Given the description of an element on the screen output the (x, y) to click on. 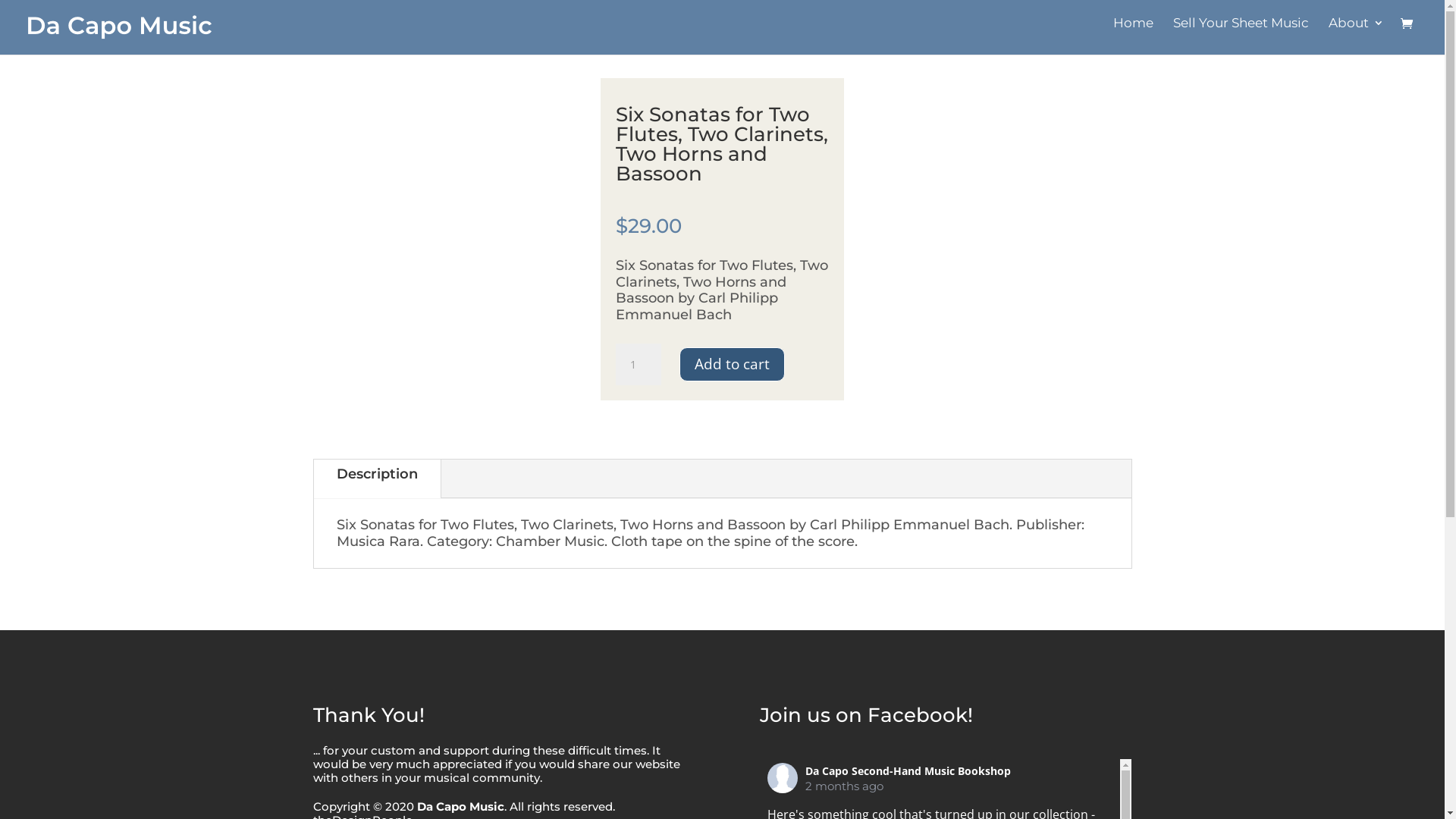
Description Element type: text (376, 474)
Sell Your Sheet Music Element type: text (1240, 31)
Add to cart Element type: text (731, 364)
About Element type: text (1355, 31)
Home Element type: text (1133, 31)
Da Capo Second-Hand Music Bookshop Element type: text (907, 770)
